Given the description of an element on the screen output the (x, y) to click on. 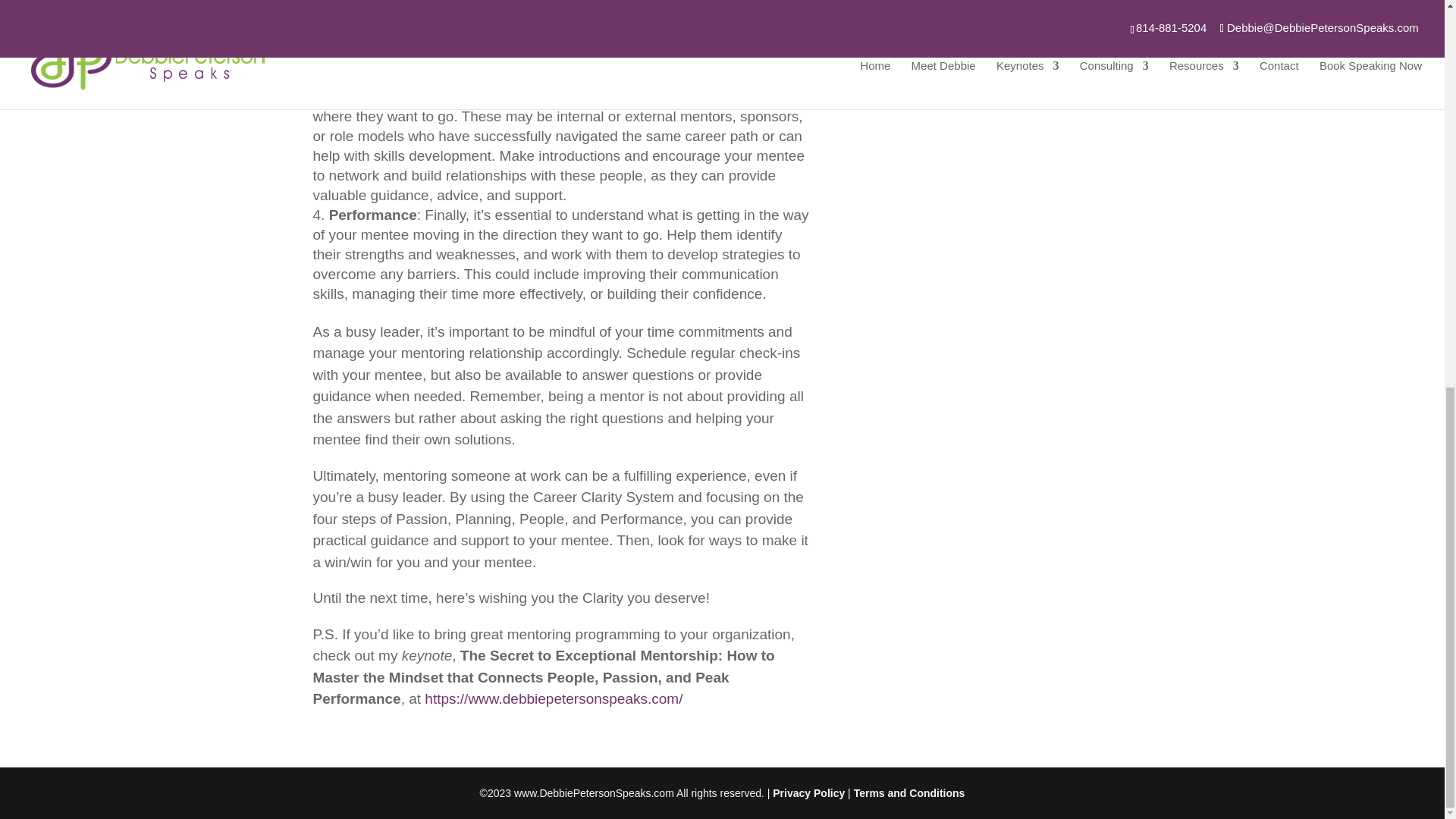
Terms and Conditions (909, 792)
Privacy Policy (808, 792)
